Given the description of an element on the screen output the (x, y) to click on. 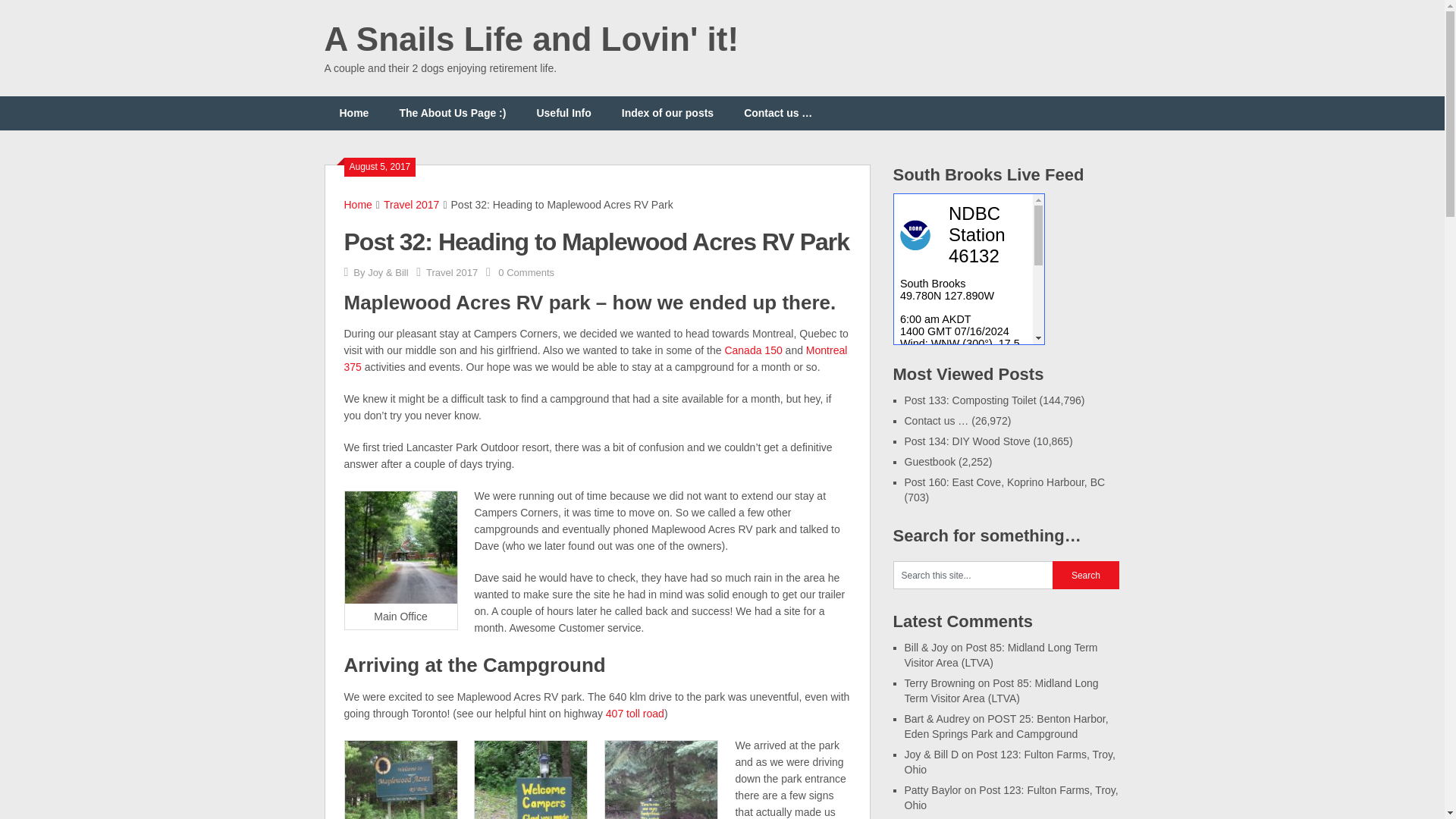
Post 133: Composting Toilet (969, 399)
Guestbook (929, 461)
Useful Info (563, 113)
Search (1085, 574)
Canada 150 (752, 349)
A Snails Life and Lovin' it! (531, 38)
Home (357, 204)
Travel 2017 (411, 204)
407 toll road (632, 713)
0 Comments (525, 272)
Index of our posts (668, 113)
Post 160: East Cove, Koprino Harbour, BC (1004, 481)
Travel 2017 (451, 272)
Post 134: DIY Wood Stove (966, 440)
Search (1085, 574)
